Given the description of an element on the screen output the (x, y) to click on. 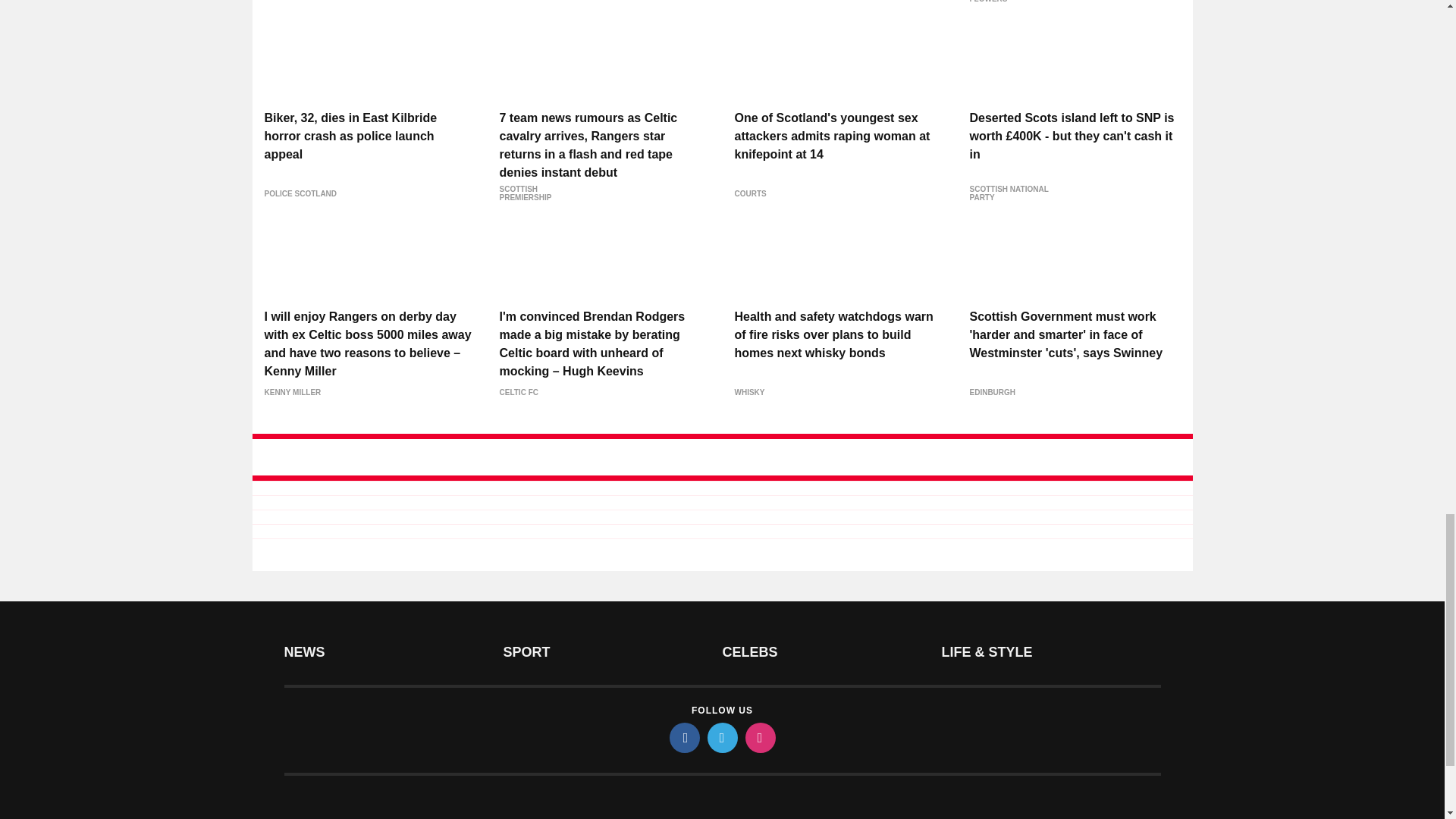
facebook (683, 737)
instagram (759, 737)
twitter (721, 737)
